Given the description of an element on the screen output the (x, y) to click on. 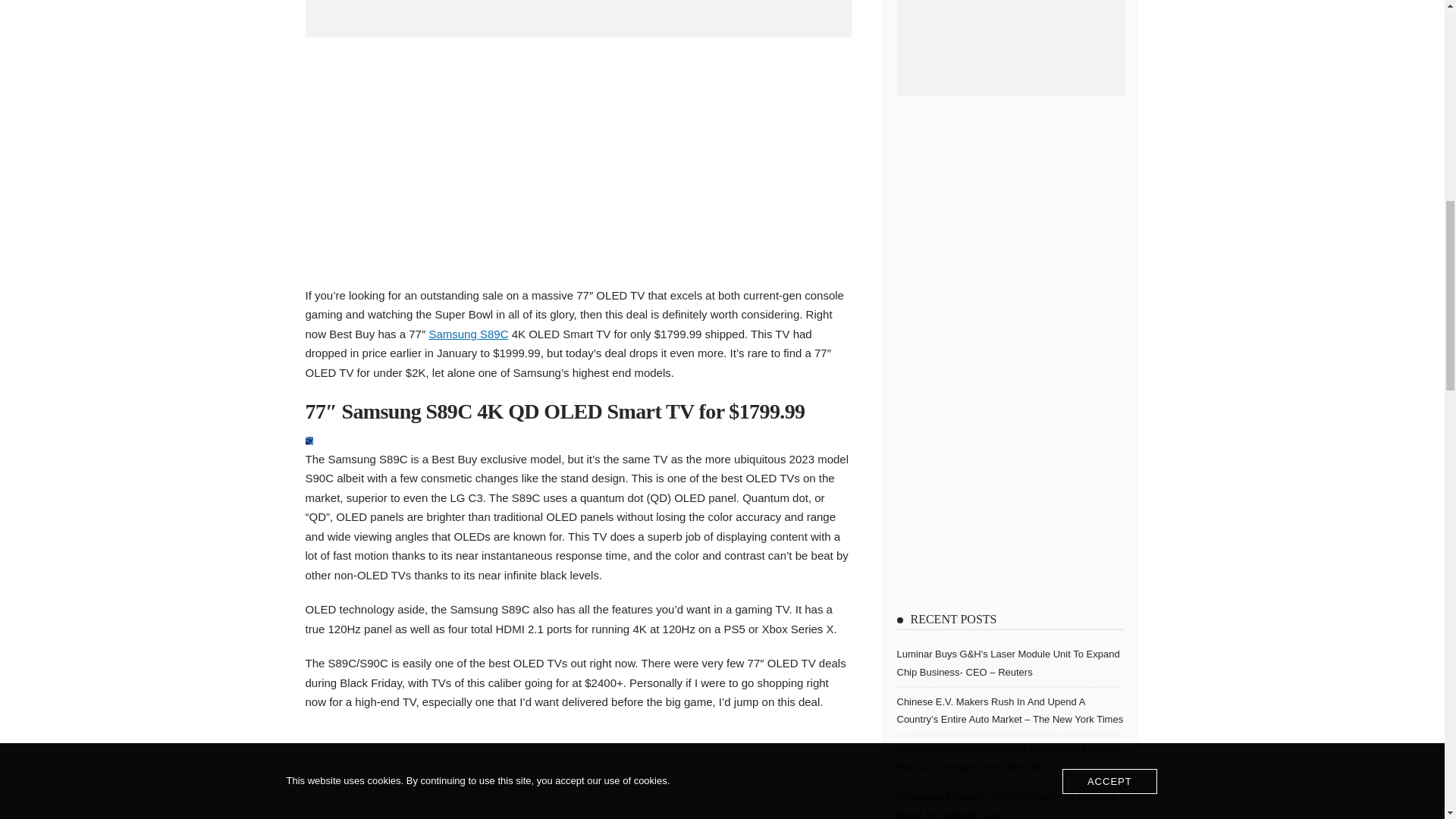
Advertisement (577, 158)
